Given the description of an element on the screen output the (x, y) to click on. 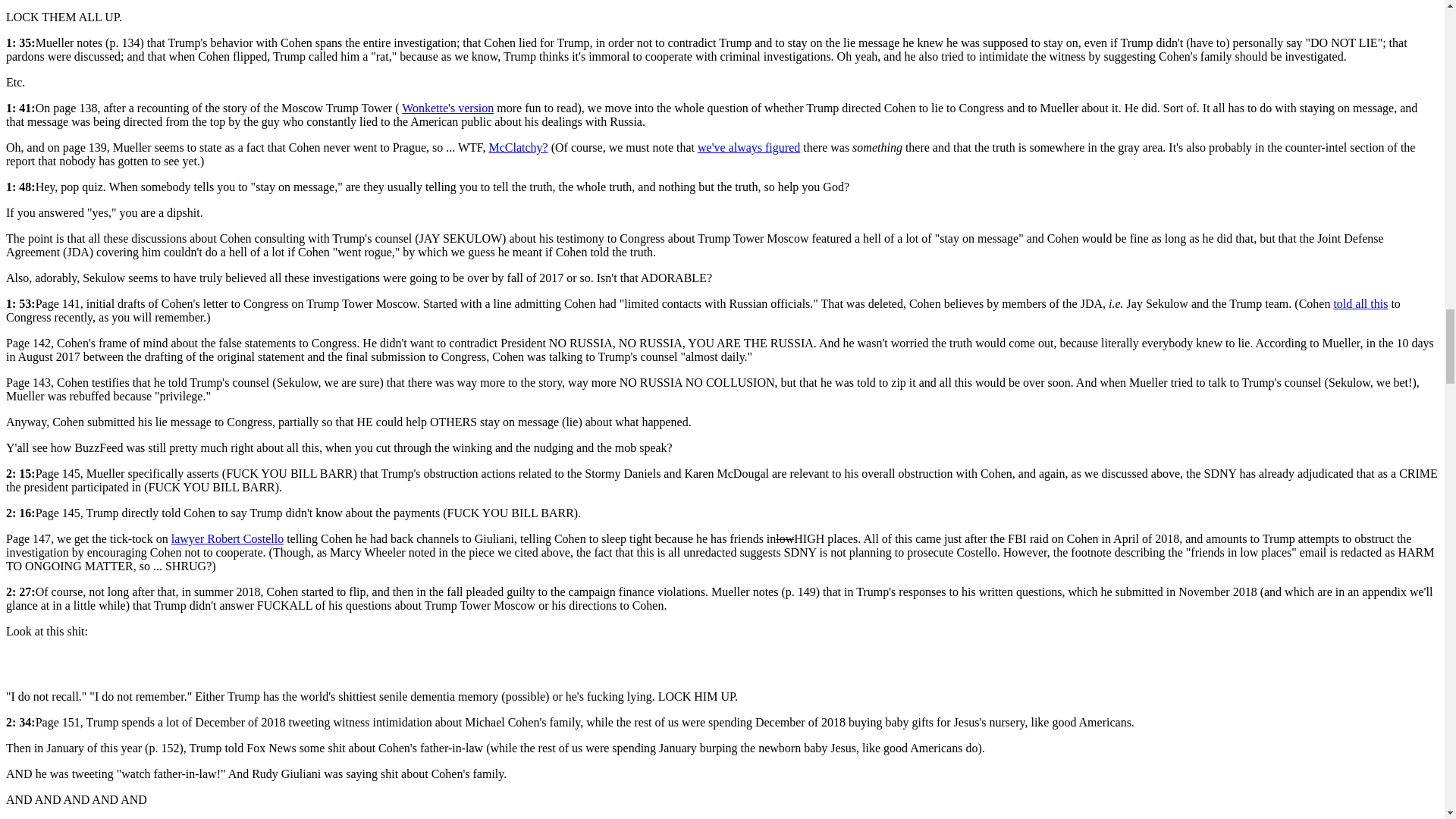
Wonkette's version (447, 107)
McClatchy? (517, 146)
told all this (1360, 303)
we've always figured (748, 146)
lawyer Robert Costello (227, 538)
